Given the description of an element on the screen output the (x, y) to click on. 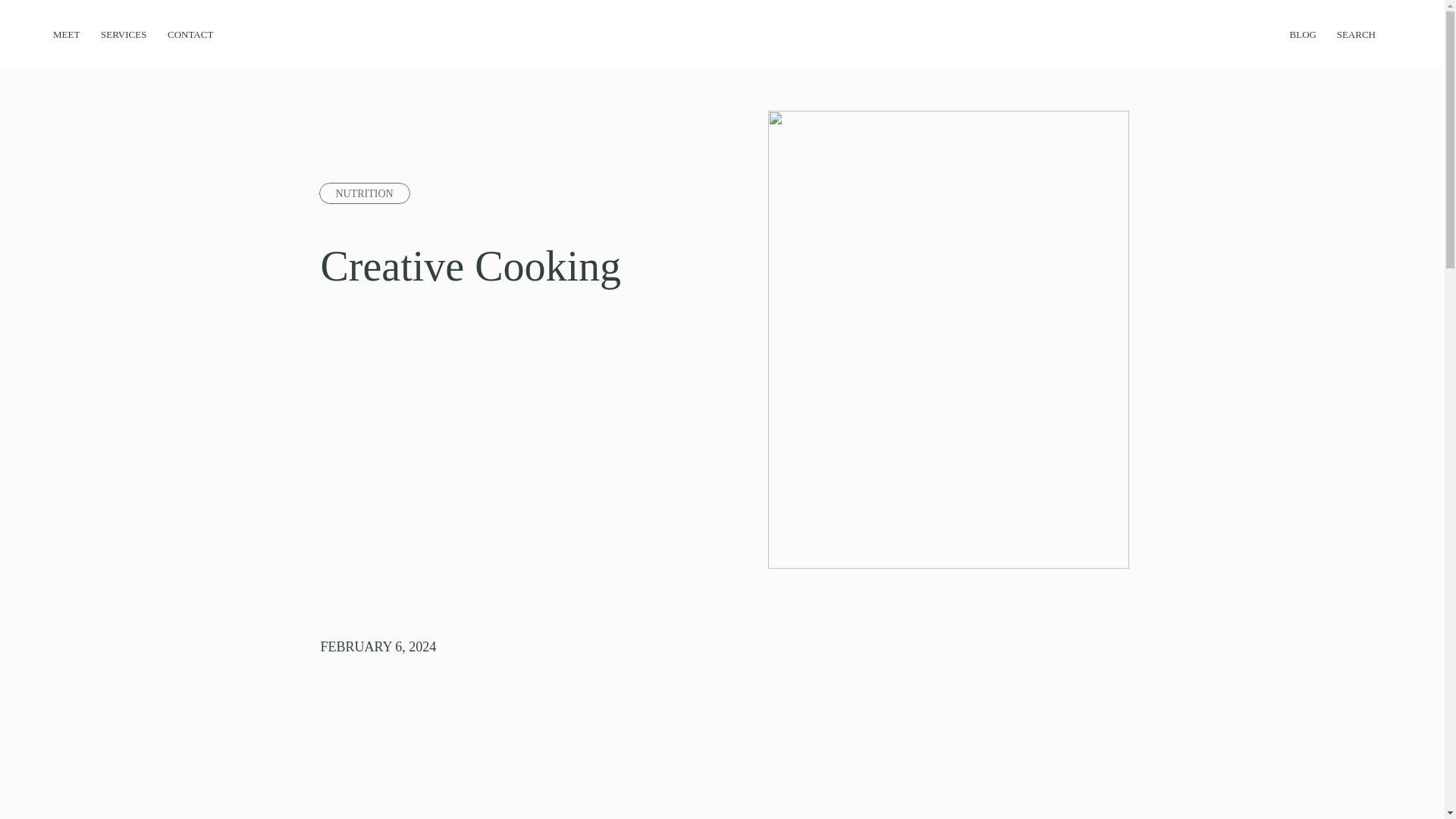
MEET (72, 32)
BLOG (1289, 32)
NUTRITION (363, 193)
SERVICES (127, 32)
CONTACT (194, 32)
